Given the description of an element on the screen output the (x, y) to click on. 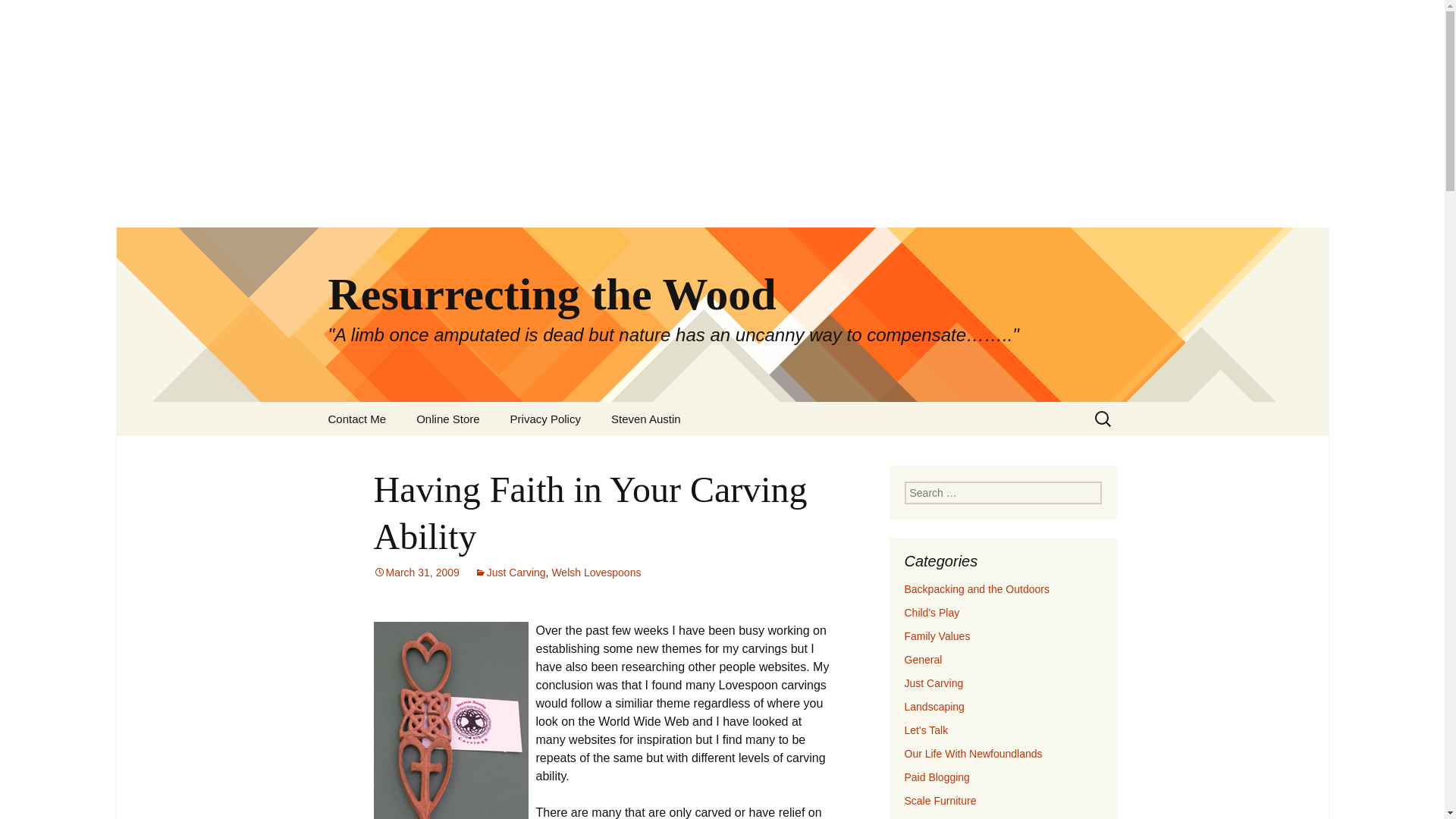
Search for: (1002, 492)
Carving basics and small projects. (933, 683)
Our Life With Newfoundlands (973, 753)
Steven Austin (645, 418)
Contact Me (357, 418)
Search (34, 15)
Open discussions and every day observations. (925, 729)
Online Store (448, 418)
Let's Talk (925, 729)
